Given the description of an element on the screen output the (x, y) to click on. 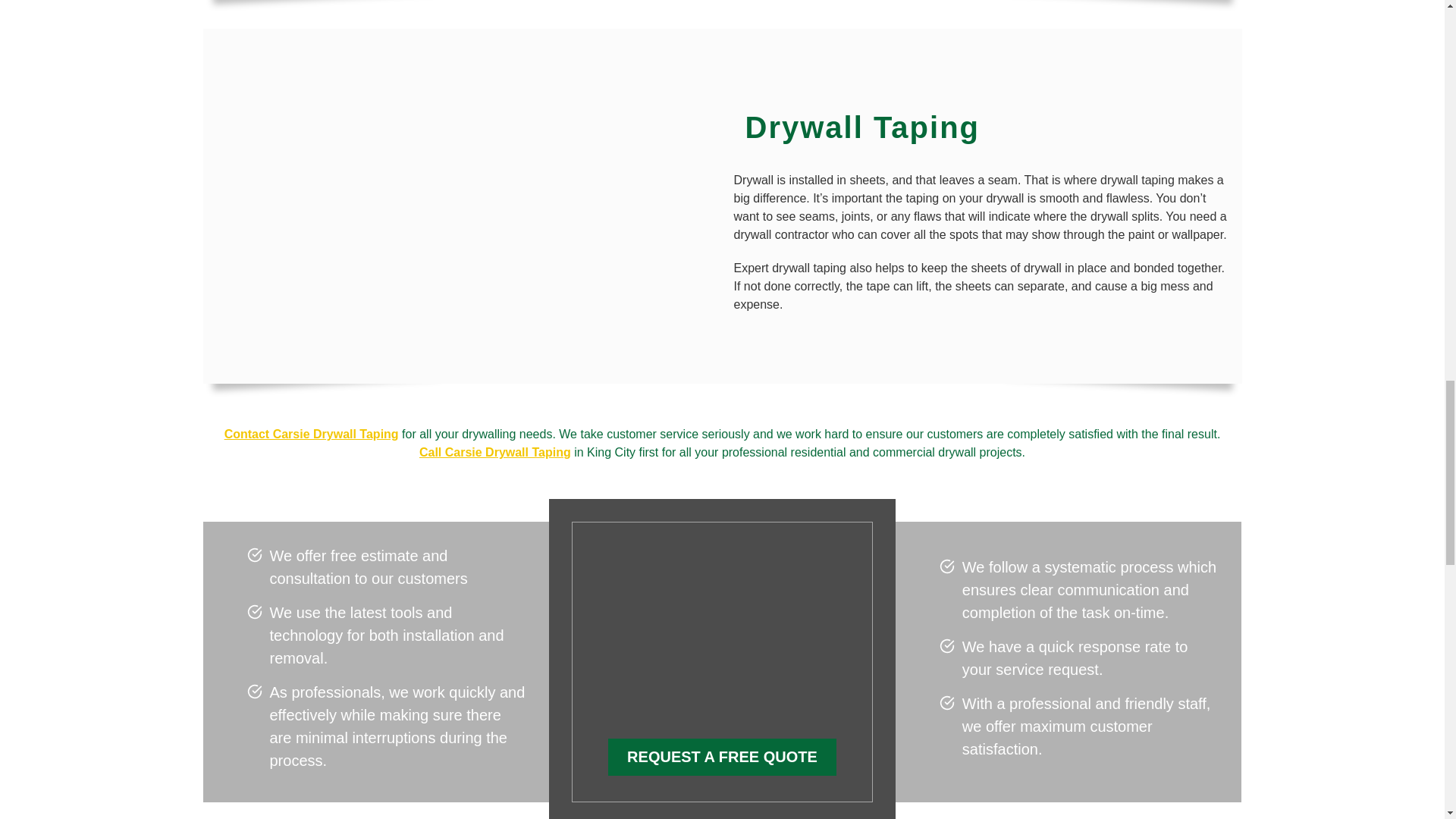
REQUEST A FREE QUOTE (721, 756)
Call Carsie Drywall Taping (494, 451)
Contact Carsie Drywall Taping (311, 433)
